Given the description of an element on the screen output the (x, y) to click on. 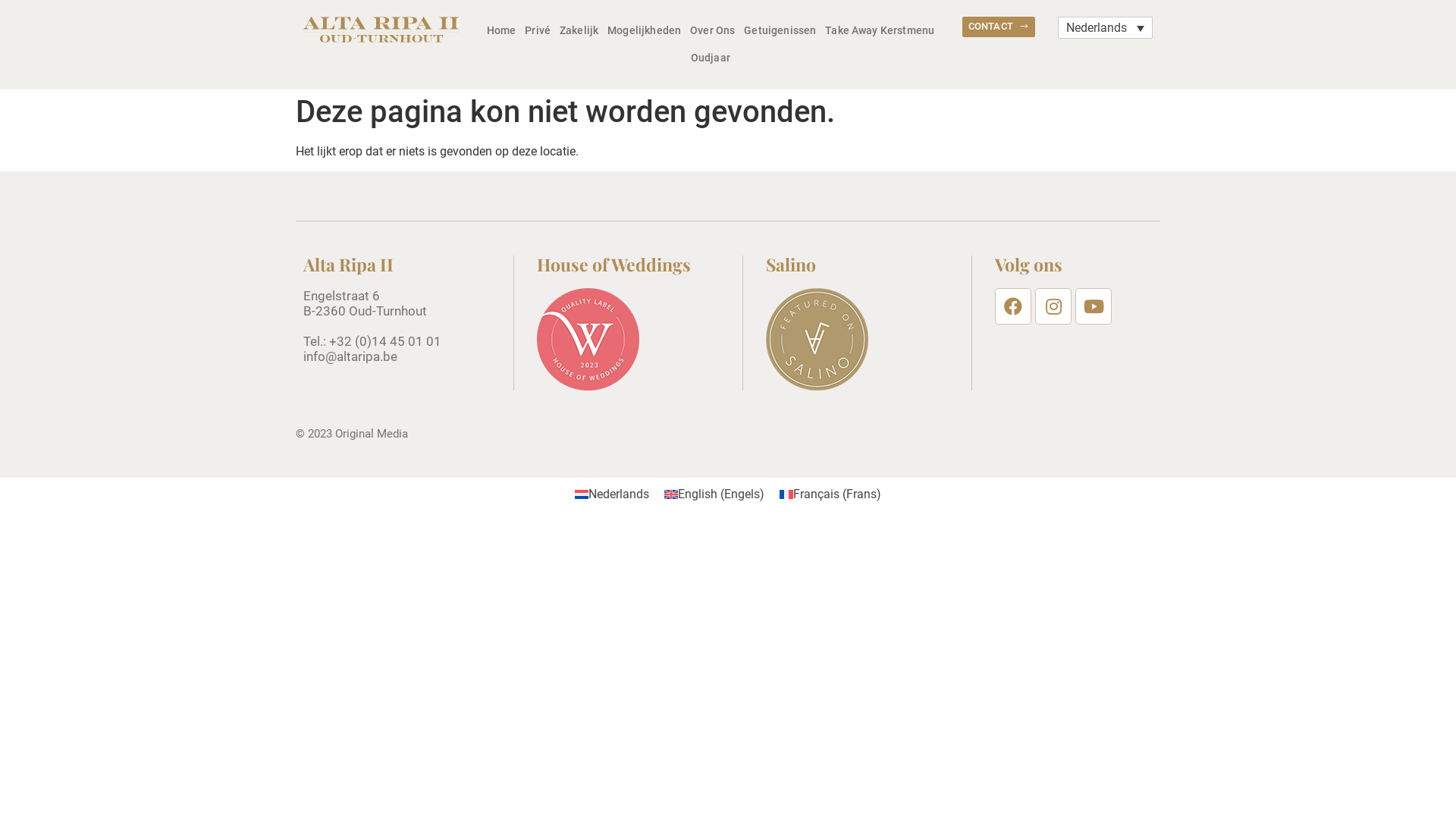
English (Engels) Element type: text (713, 494)
CONTACT Element type: text (998, 26)
Zakelijk Element type: text (578, 29)
Over Ons Element type: text (712, 29)
Nederlands Element type: text (1104, 27)
Mogelijkheden Element type: text (643, 29)
Nederlands Element type: text (611, 494)
Getuigenissen Element type: text (779, 29)
Oudjaar Element type: text (710, 57)
Take Away Kerstmenu Element type: text (879, 29)
Home Element type: text (501, 29)
